Given the description of an element on the screen output the (x, y) to click on. 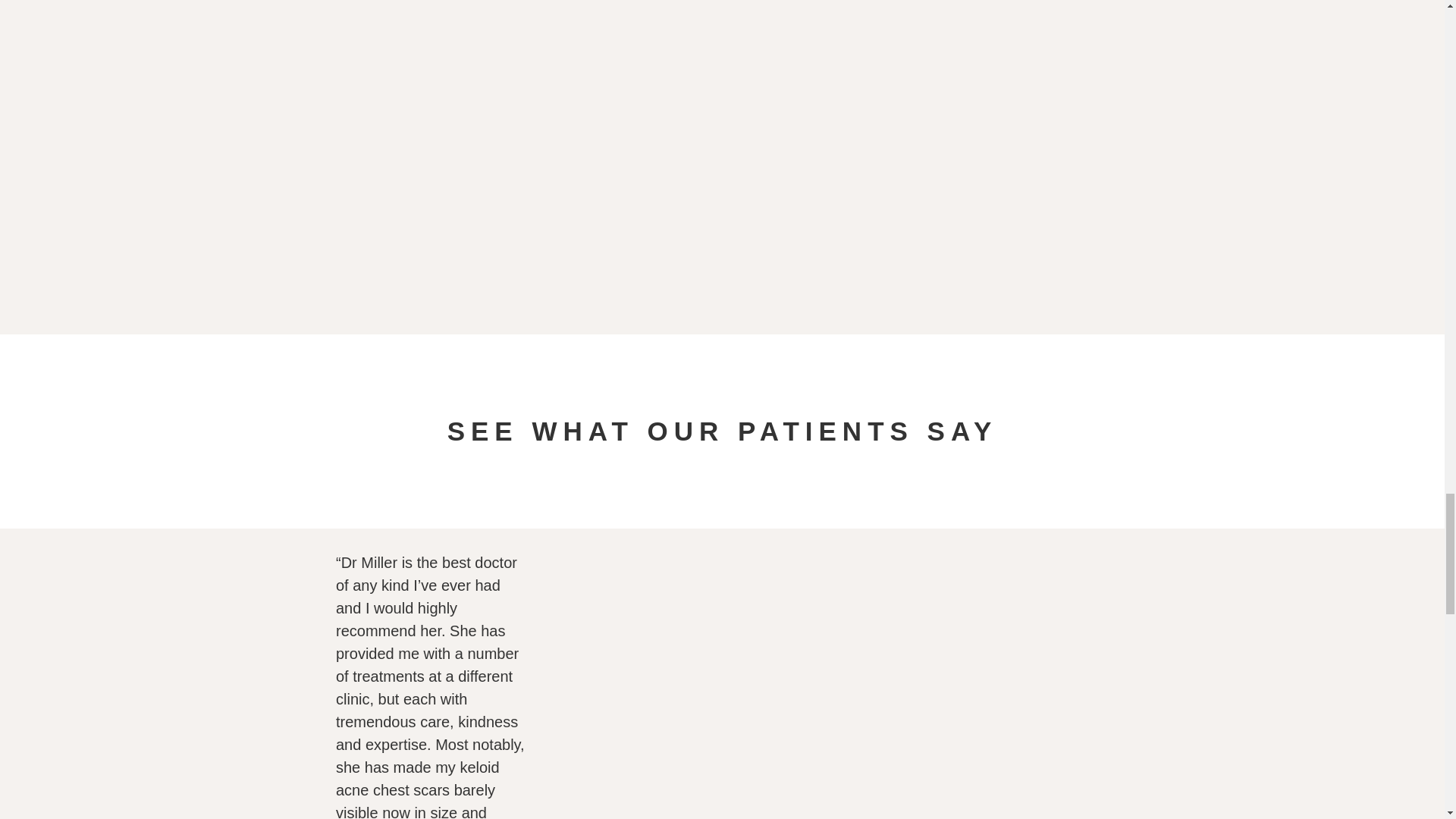
Scar 023 (938, 593)
